Given the description of an element on the screen output the (x, y) to click on. 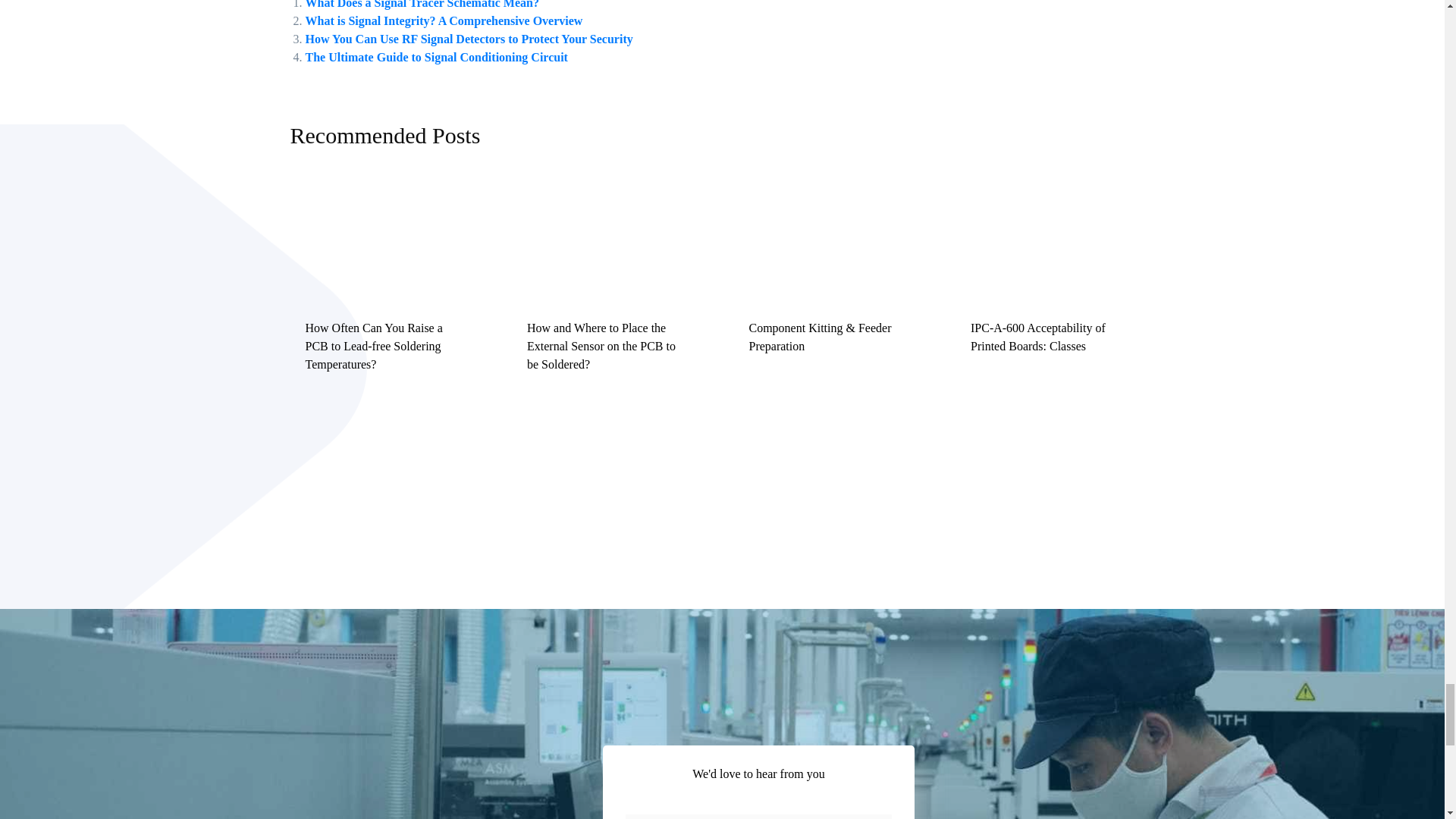
What Does a Signal Tracer Schematic Mean? (421, 4)
What is Signal Integrity? A Comprehensive Overview (443, 19)
The Ultimate Guide to Signal Conditioning Circuit (435, 56)
How You Can Use RF Signal Detectors to Protect Your Security (467, 38)
